Given the description of an element on the screen output the (x, y) to click on. 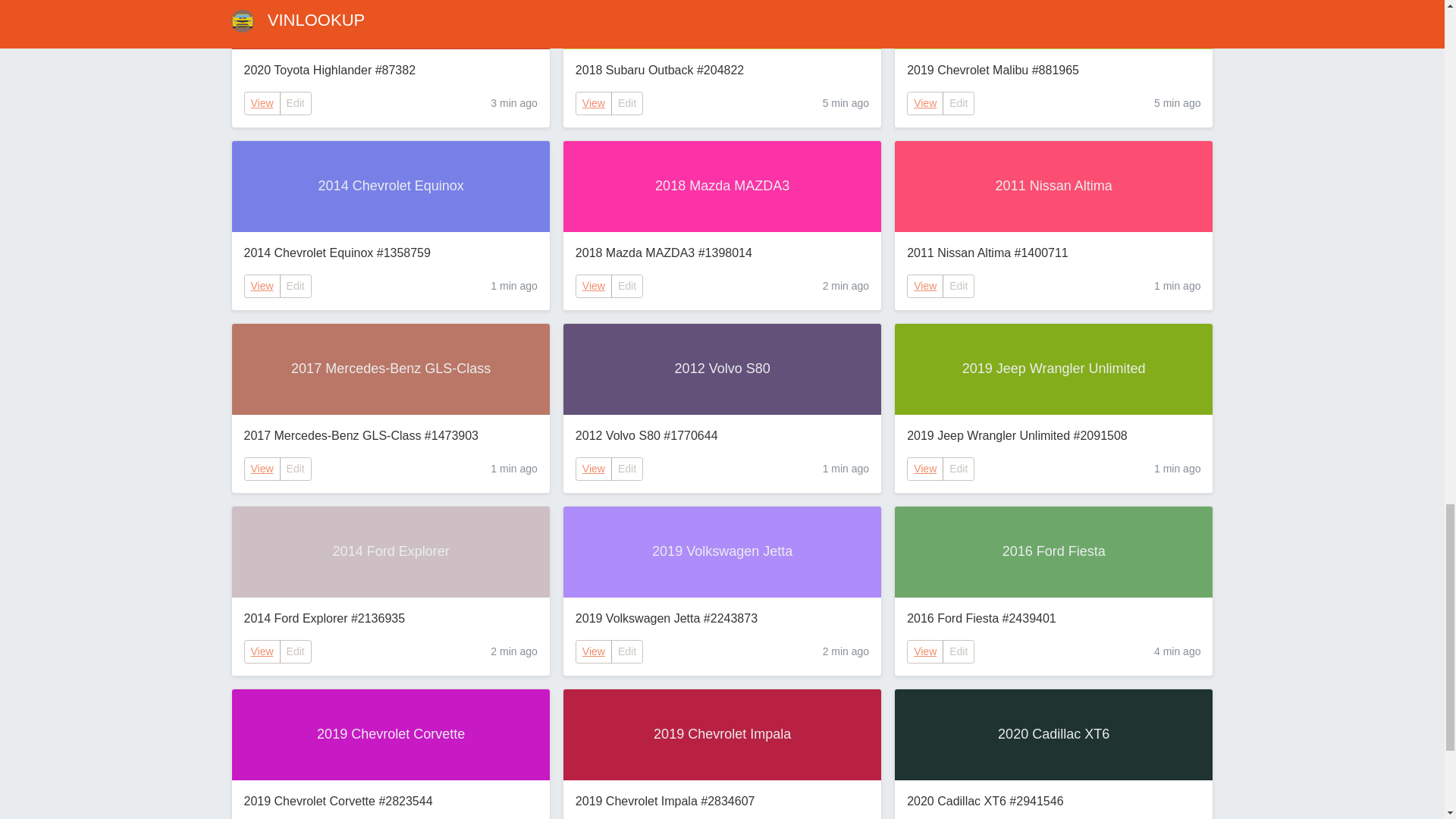
View (593, 102)
2012 Volvo S80 (721, 368)
Edit (627, 103)
View (261, 468)
2019 Chevrolet Impala (721, 734)
2014 Chevrolet Equinox (390, 185)
View (925, 103)
View (925, 286)
2020 Toyota Highlander (390, 24)
View (593, 286)
